Given the description of an element on the screen output the (x, y) to click on. 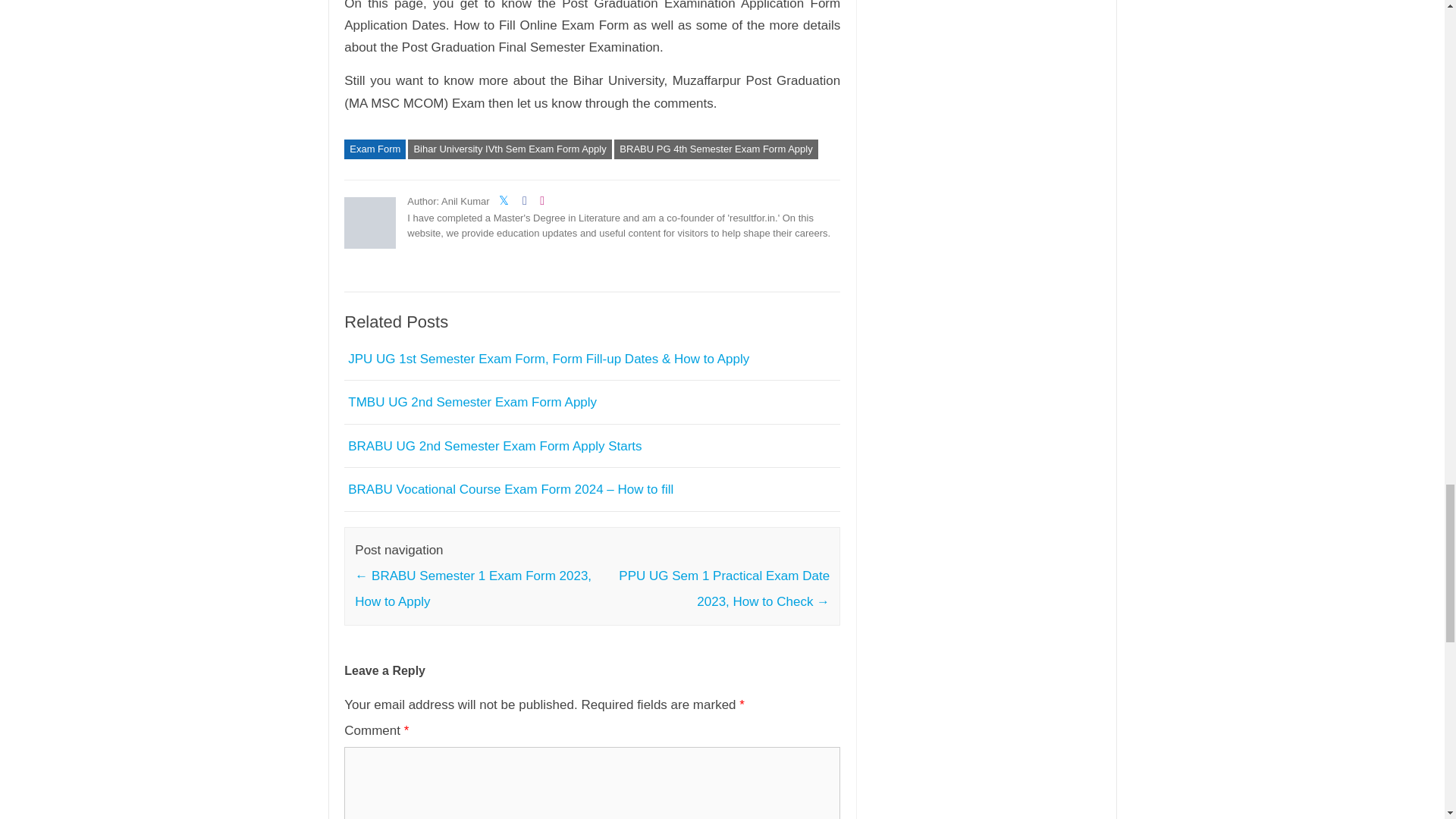
TMBU UG 2nd Semester Exam Form Apply (471, 401)
Bihar University IVth Sem Exam Form Apply (509, 148)
BRABU PG 4th Semester Exam Form Apply (715, 148)
TMBU UG 2nd Semester Exam Form Apply (471, 401)
BRABU UG 2nd Semester Exam Form Apply Starts (494, 445)
Exam Form (374, 148)
